Given the description of an element on the screen output the (x, y) to click on. 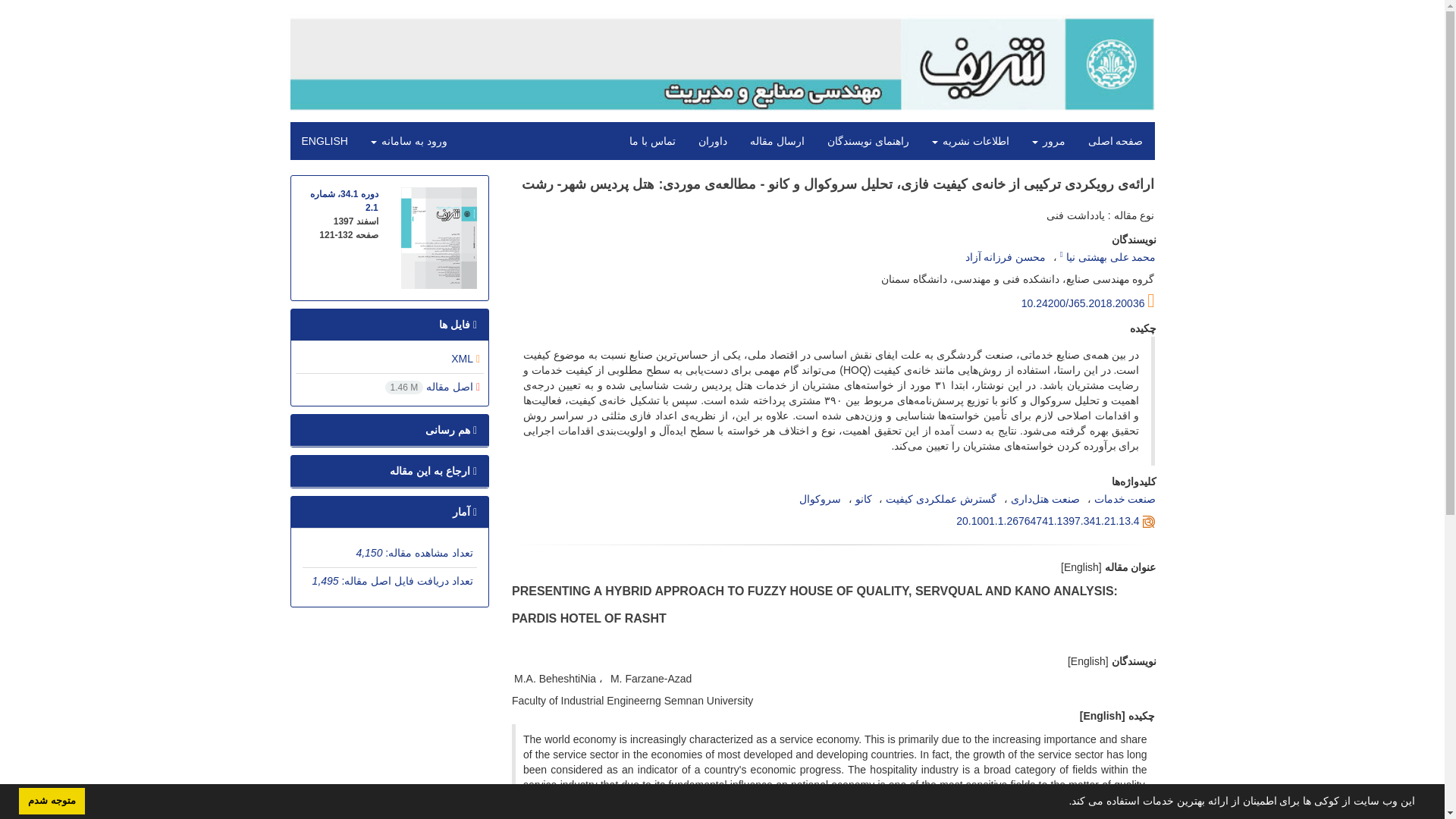
ENGLISH (323, 140)
DOR (1047, 521)
